Given the description of an element on the screen output the (x, y) to click on. 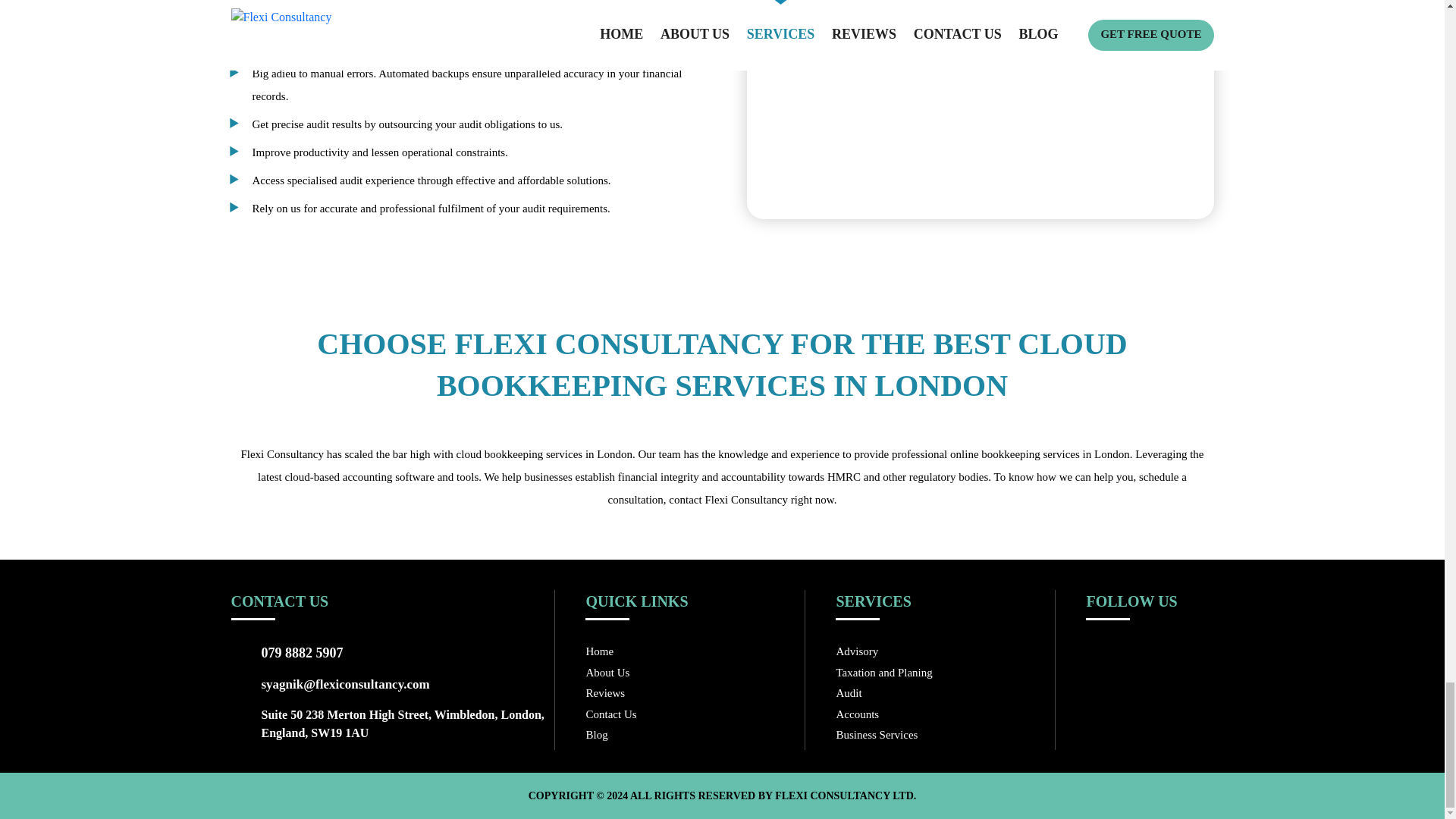
Business Services (876, 734)
Taxation and Planing (883, 672)
Audit (848, 693)
Reviews (604, 693)
Advisory (856, 651)
About Us (606, 672)
079 8882 5907 (301, 652)
Home (598, 651)
Blog (596, 734)
Accounts (857, 714)
